Given the description of an element on the screen output the (x, y) to click on. 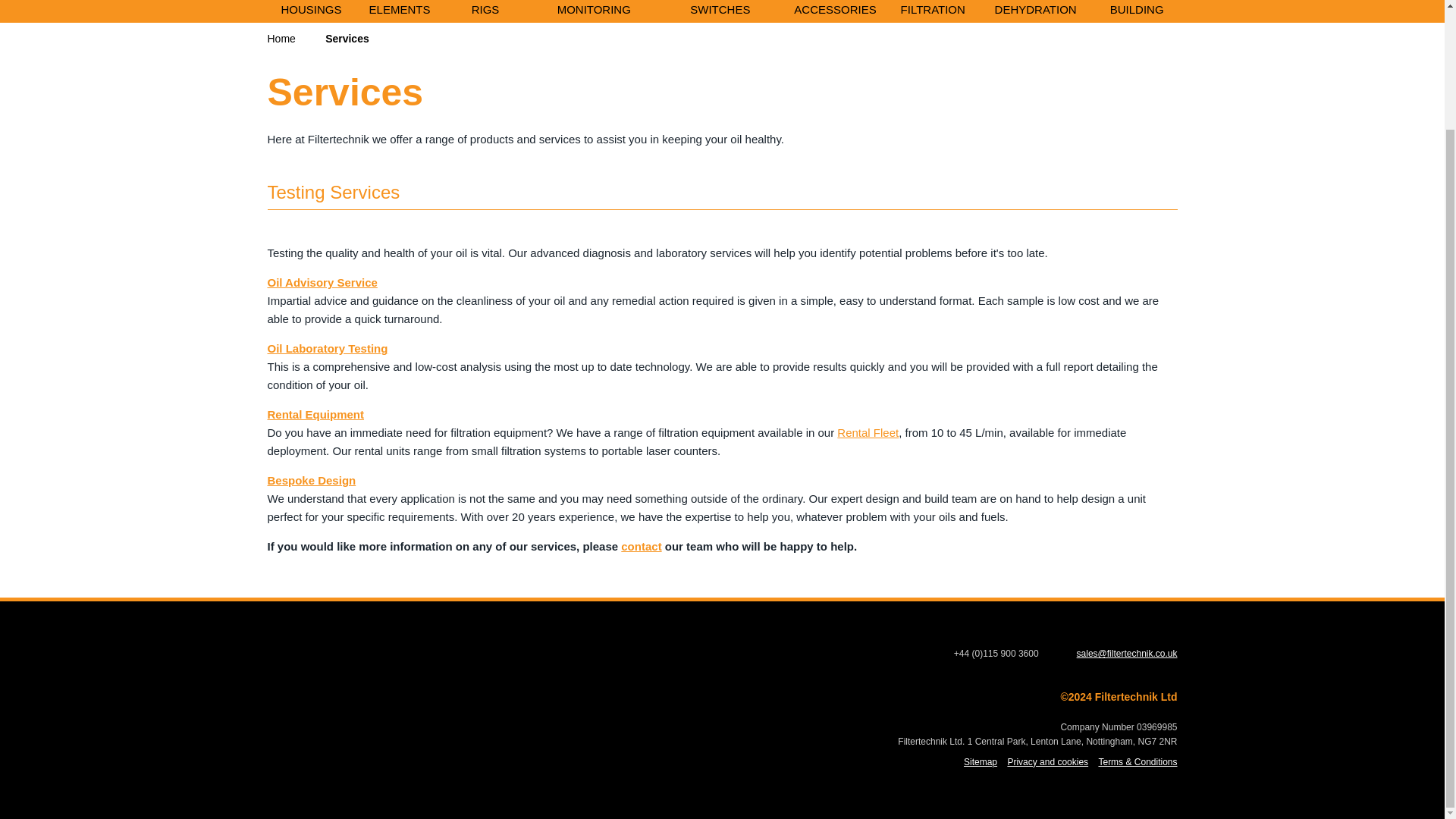
OIL CONDITION MONITORING (594, 11)
FILTER HOUSINGS (310, 11)
FILTER ELEMENTS (399, 11)
FILTRATION RIGS (484, 11)
